Given the description of an element on the screen output the (x, y) to click on. 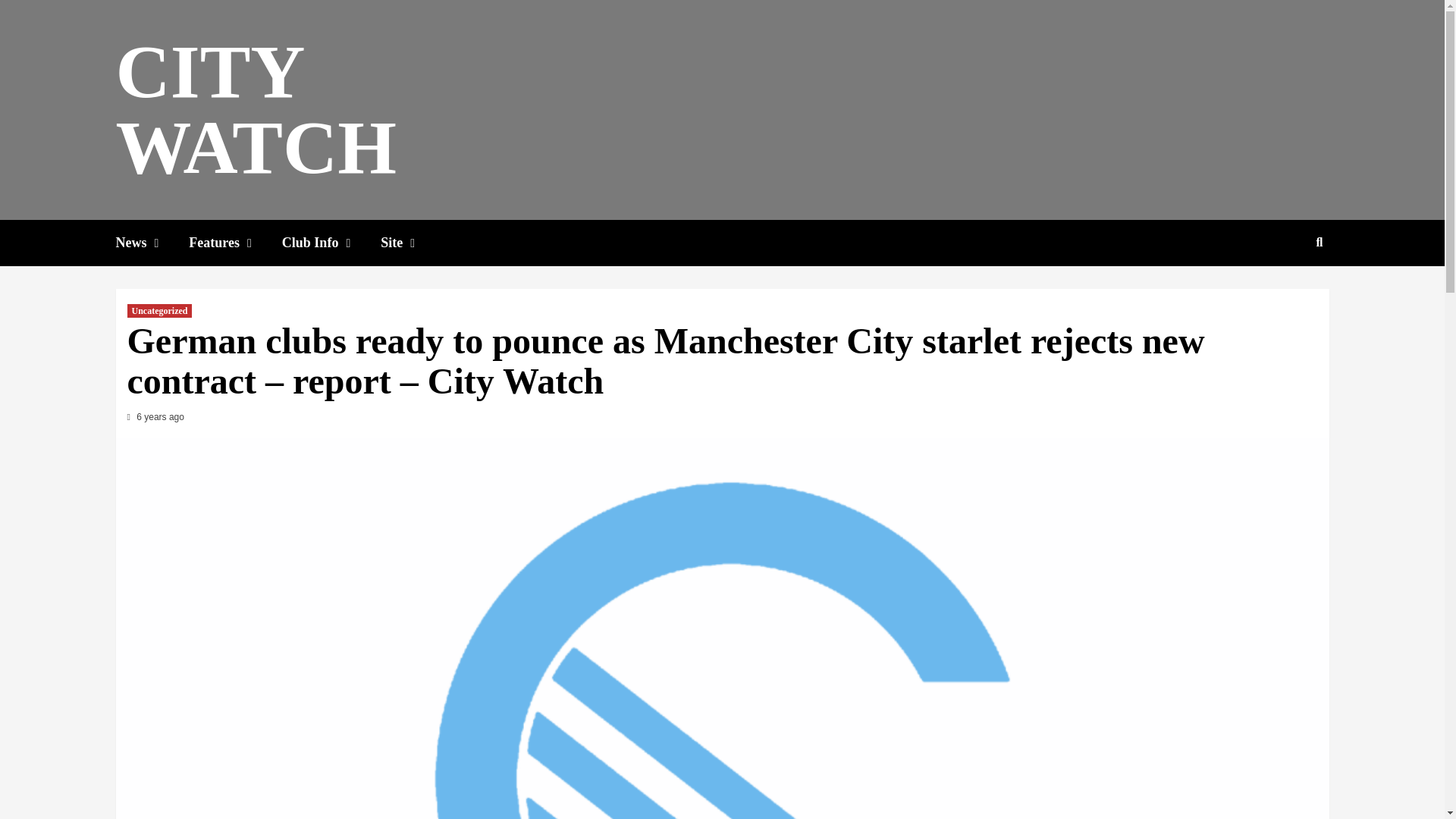
Site (412, 243)
6 years ago (160, 416)
News (152, 243)
Features (235, 243)
CITY WATCH (255, 109)
Club Info (331, 243)
Search (1319, 242)
Search (1283, 291)
Uncategorized (160, 310)
